Given the description of an element on the screen output the (x, y) to click on. 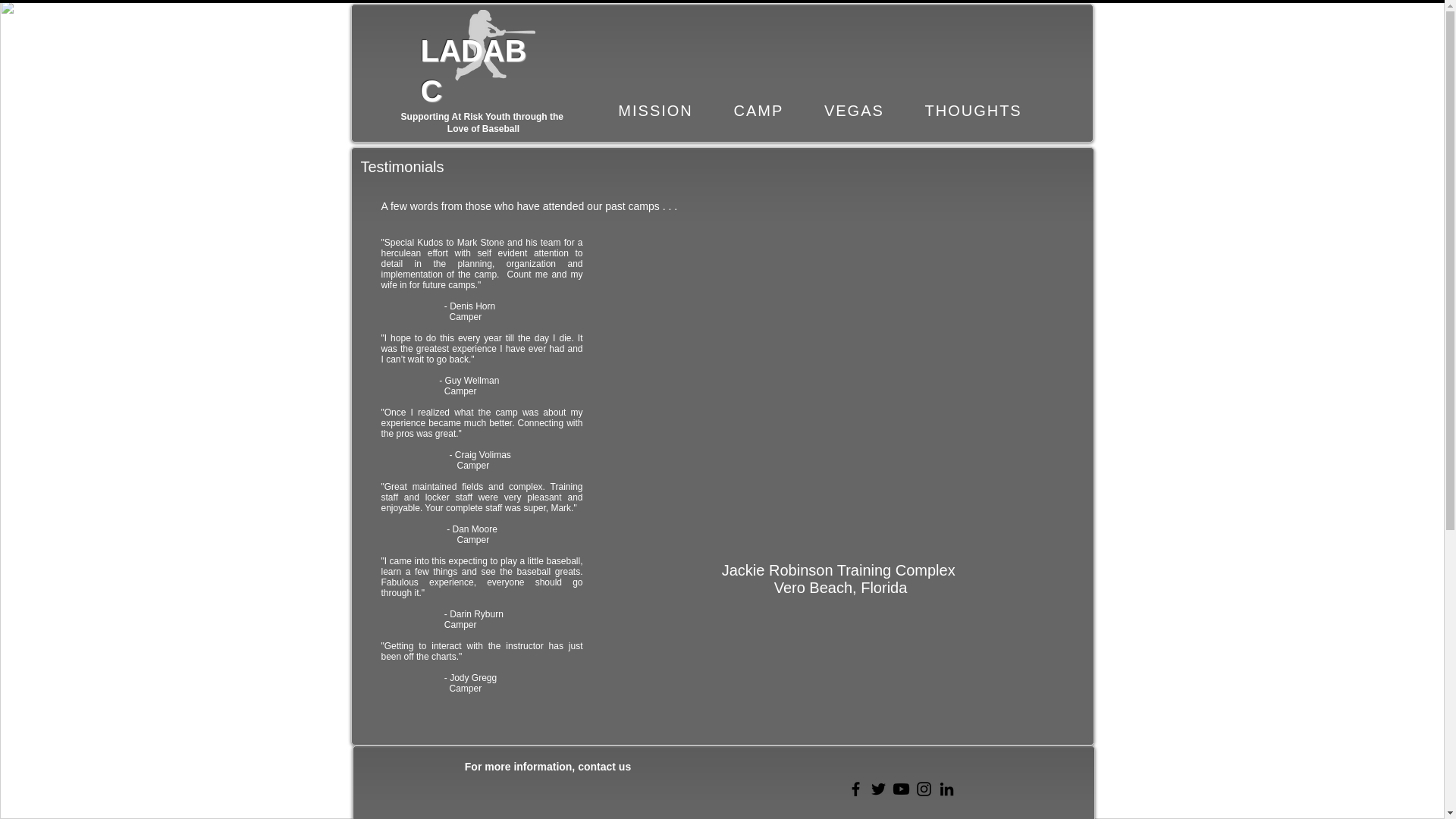
MISSION (654, 111)
External YouTube (843, 374)
LADABC (472, 71)
VEGAS (853, 111)
THOUGHTS (973, 111)
CAMP (758, 111)
